Given the description of an element on the screen output the (x, y) to click on. 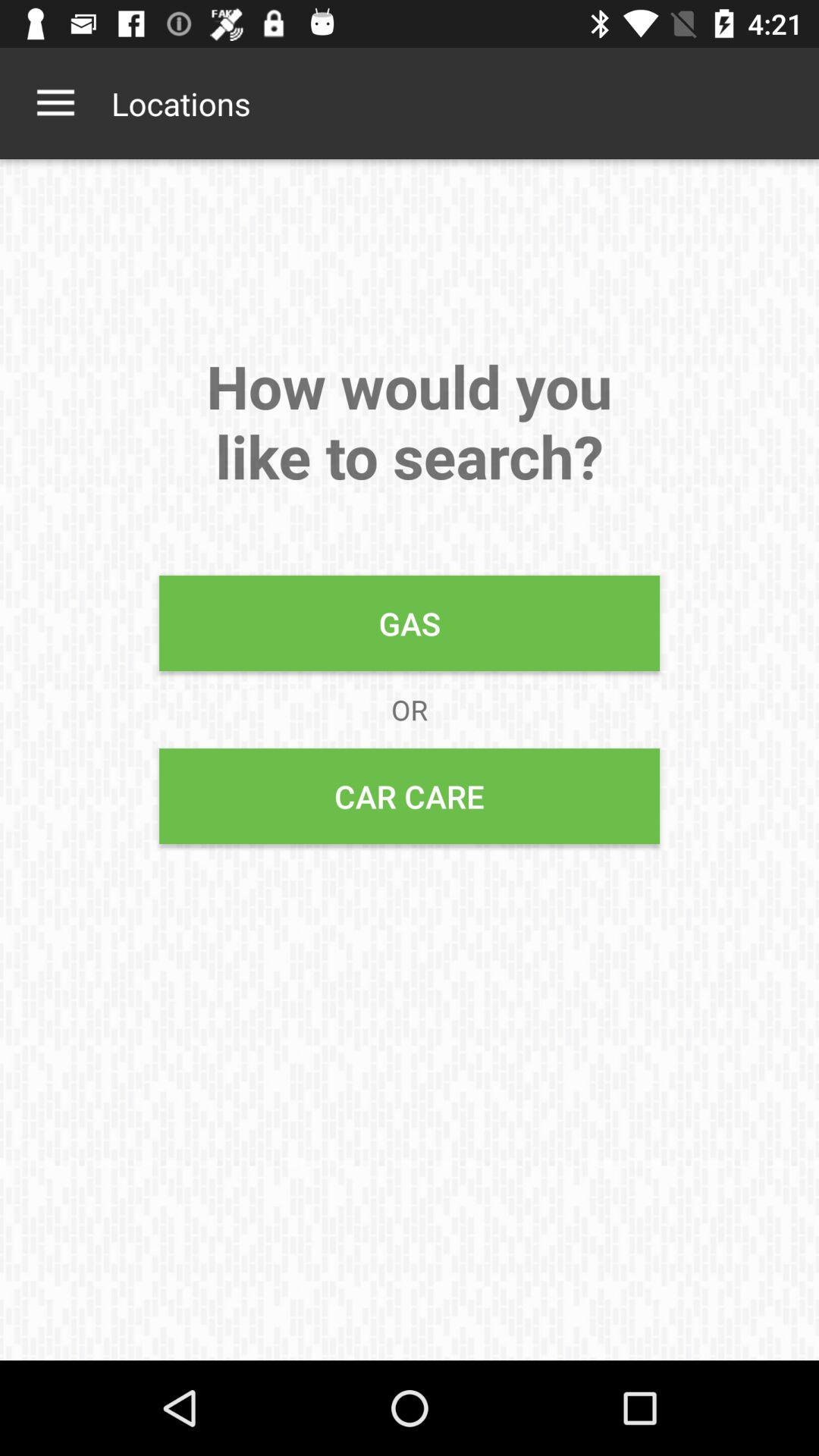
press car care item (409, 796)
